Given the description of an element on the screen output the (x, y) to click on. 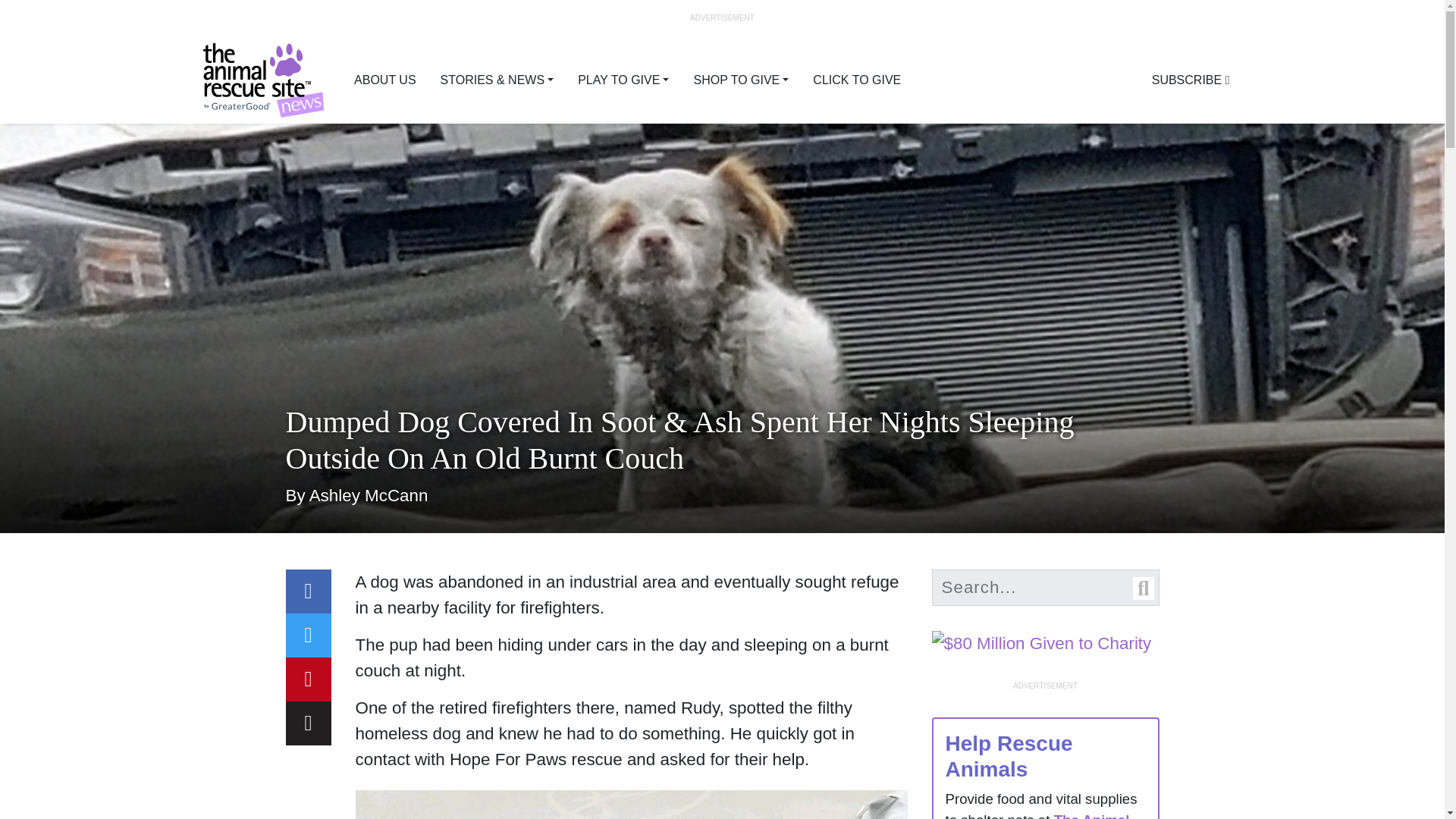
CLICK TO GIVE (856, 80)
ABOUT US (385, 80)
SHOP TO GIVE (740, 80)
SUBSCRIBE (1190, 80)
PLAY TO GIVE (623, 80)
